Given the description of an element on the screen output the (x, y) to click on. 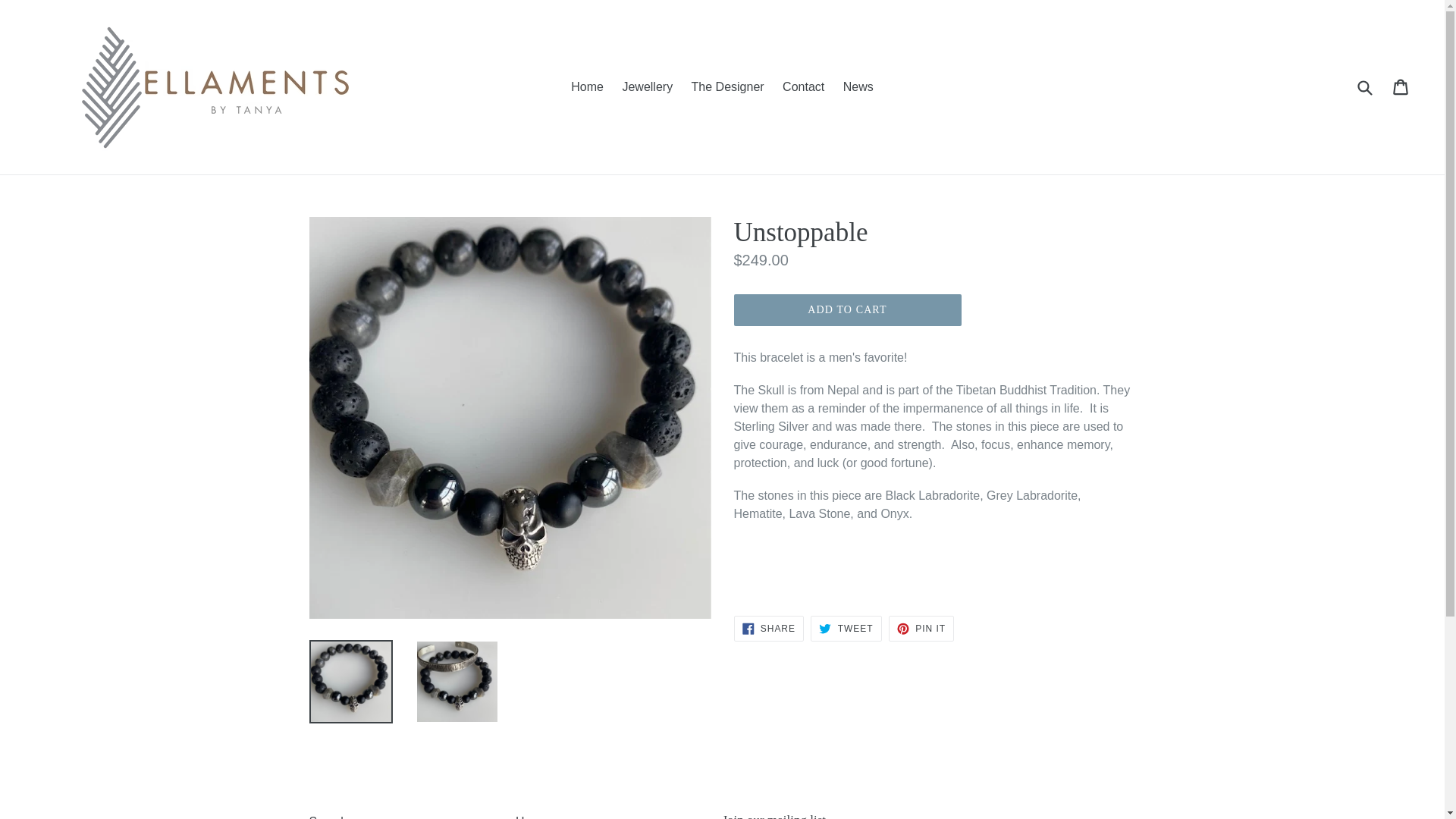
News (857, 87)
The Designer (727, 87)
Pin on Pinterest (920, 628)
Share on Facebook (768, 628)
Home (531, 816)
Jewellery (646, 87)
Contact (802, 87)
Home (768, 628)
Tweet on Twitter (920, 628)
ADD TO CART (587, 87)
Search (845, 628)
